Given the description of an element on the screen output the (x, y) to click on. 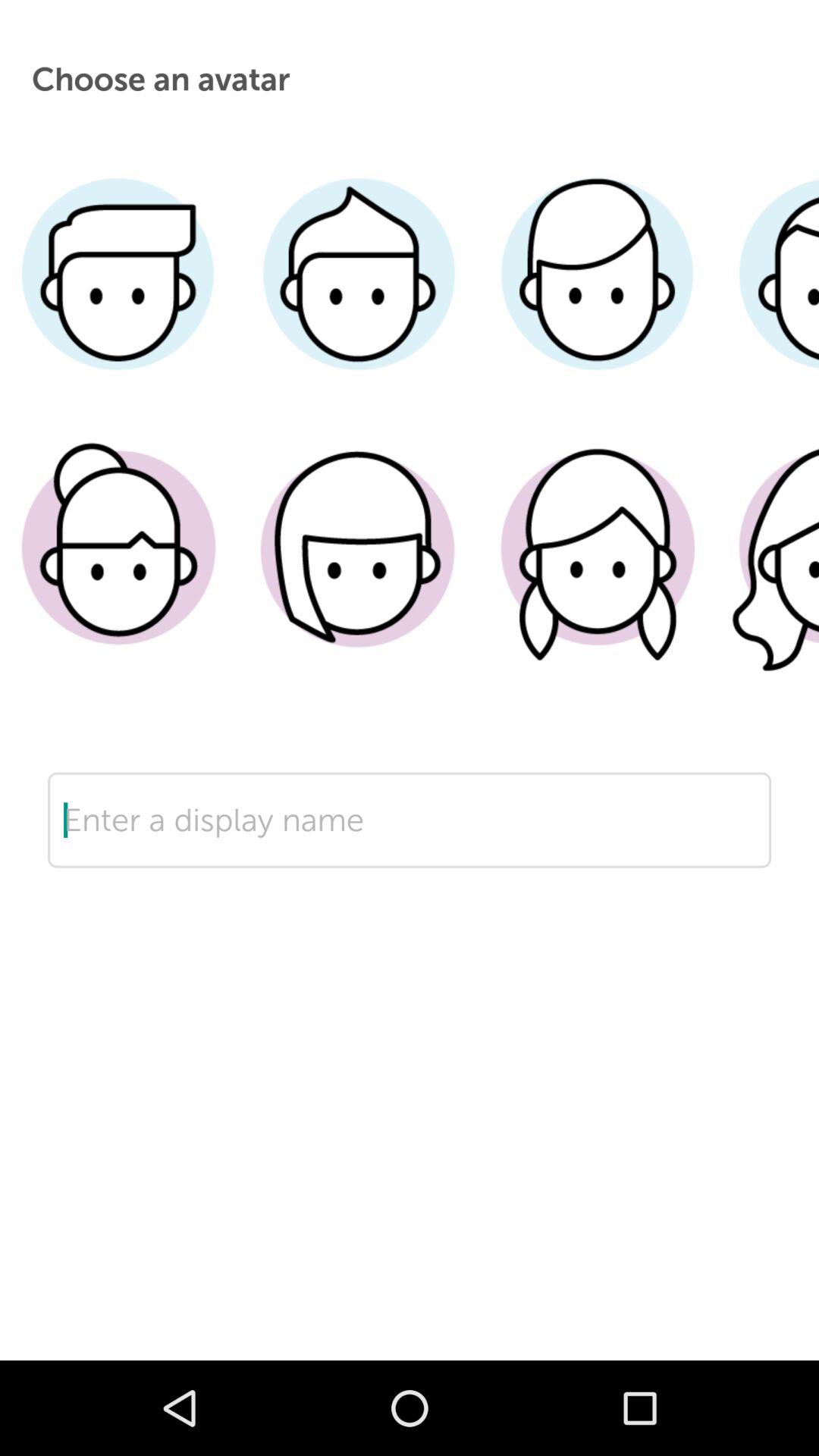
pick avatar (767, 570)
